Given the description of an element on the screen output the (x, y) to click on. 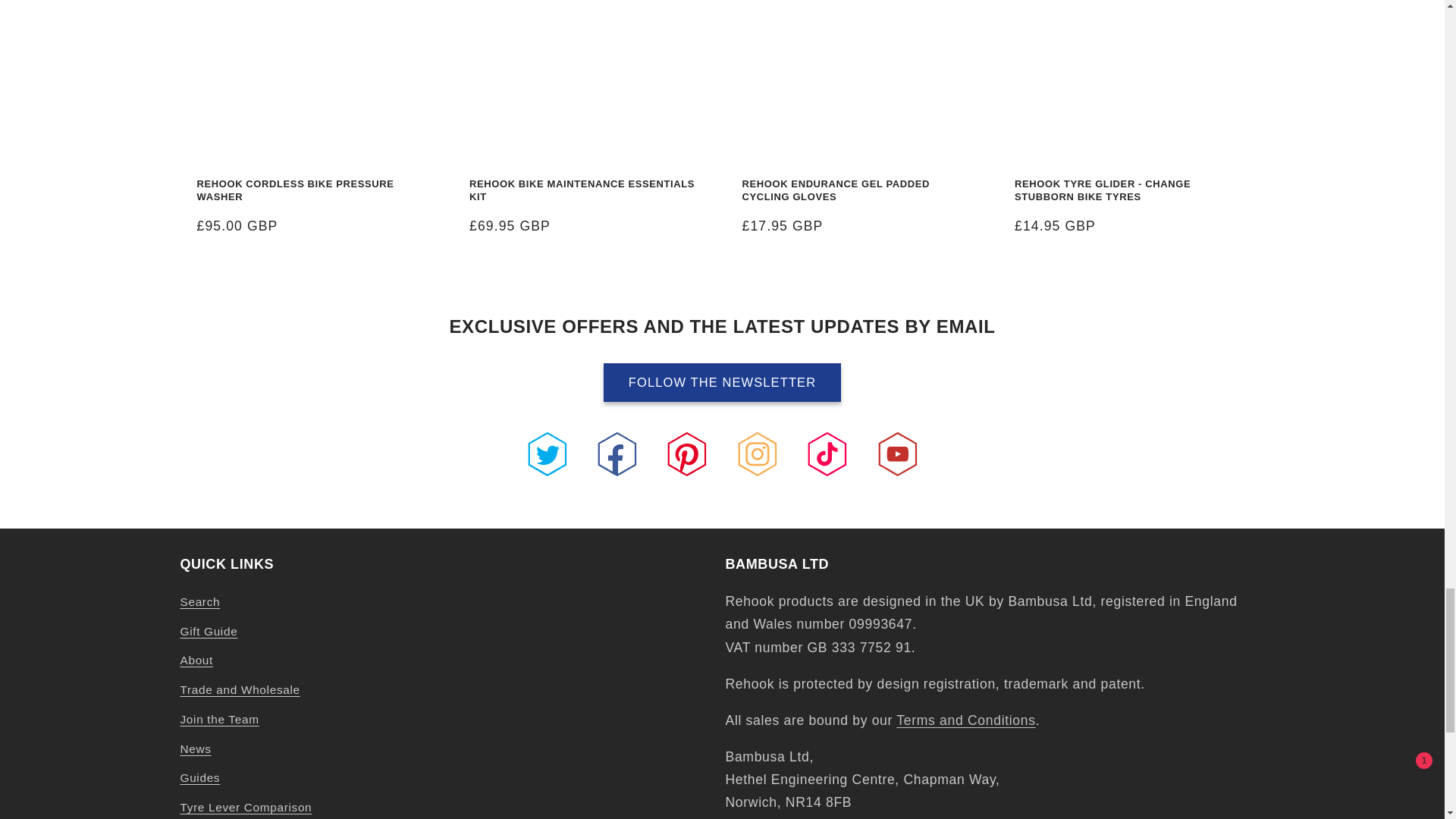
Terms of Service (965, 720)
